Given the description of an element on the screen output the (x, y) to click on. 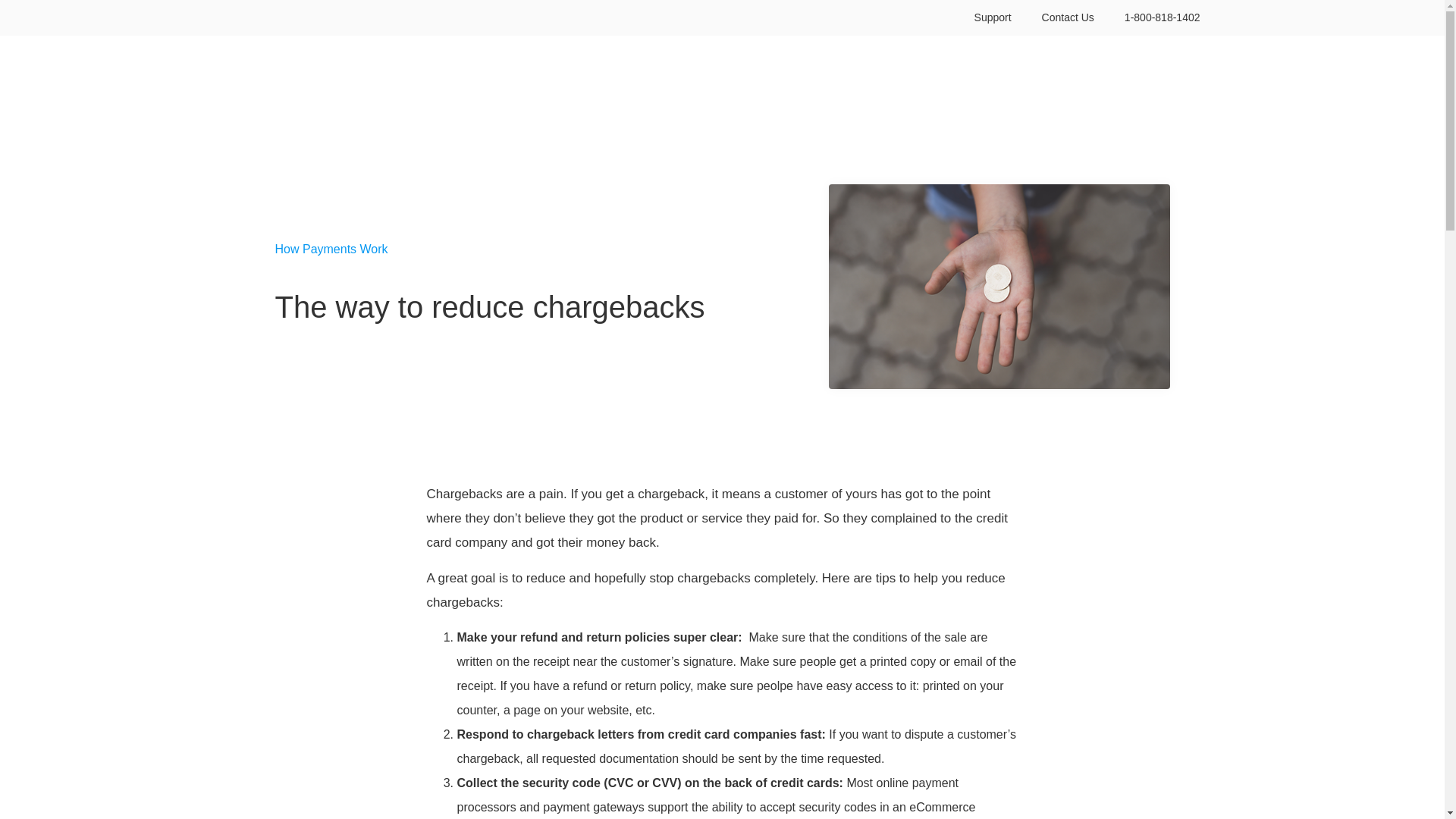
Support (992, 18)
Contact Us (1067, 18)
1-800-818-1402 (1162, 18)
